Given the description of an element on the screen output the (x, y) to click on. 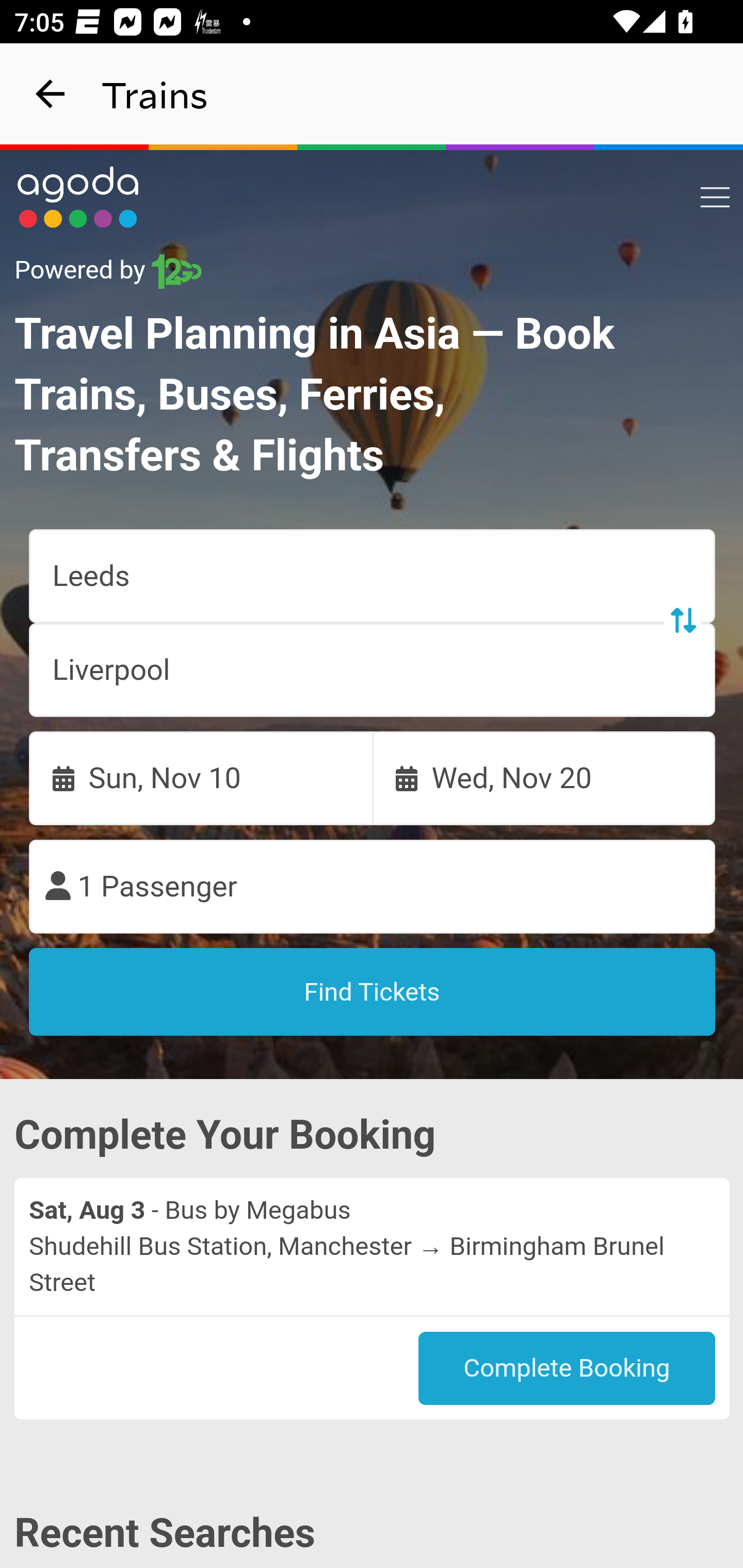
navigation_button (50, 93)
Link to main page 5418 (78, 197)
Leeds Swap trip points (372, 576)
Swap trip points (682, 619)
Liverpool (372, 670)
Sun, Nov 10 (200, 778)
Wed, Nov 20 (544, 778)
 1 Passenger (372, 887)
Find Tickets (372, 992)
Complete Booking (566, 1368)
